Given the description of an element on the screen output the (x, y) to click on. 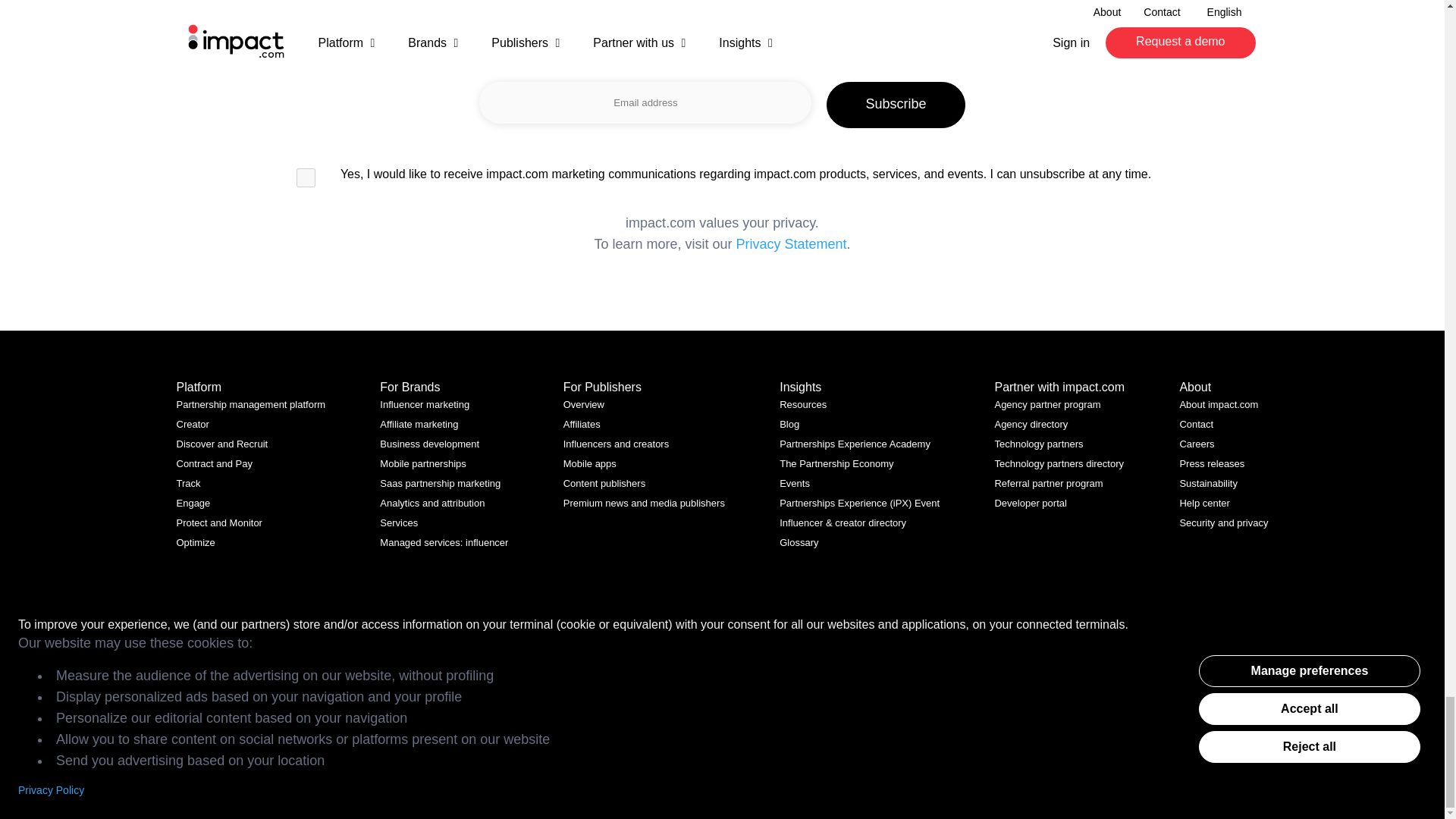
on (306, 177)
